Given the description of an element on the screen output the (x, y) to click on. 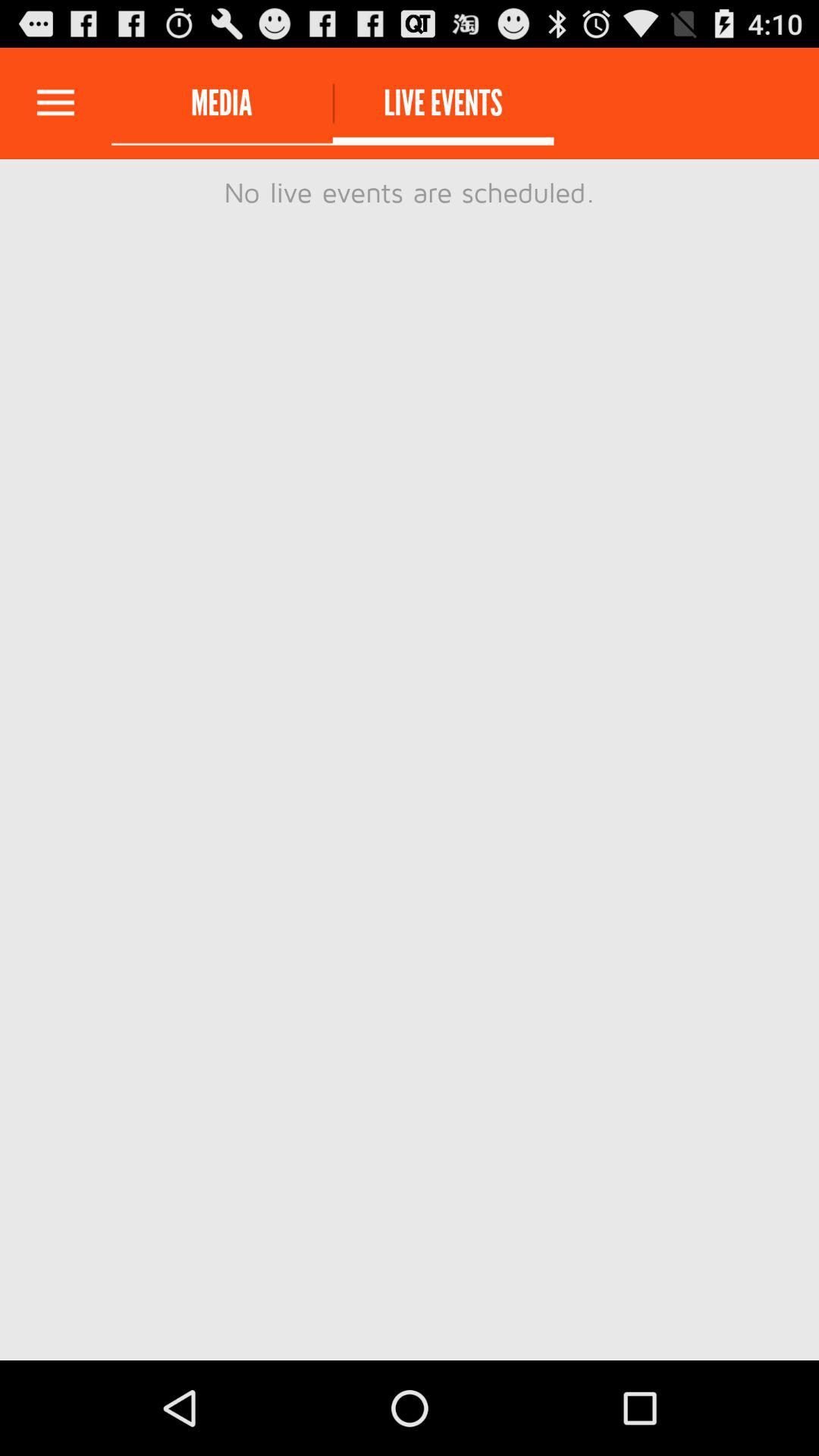
settings the any one option (55, 103)
